Given the description of an element on the screen output the (x, y) to click on. 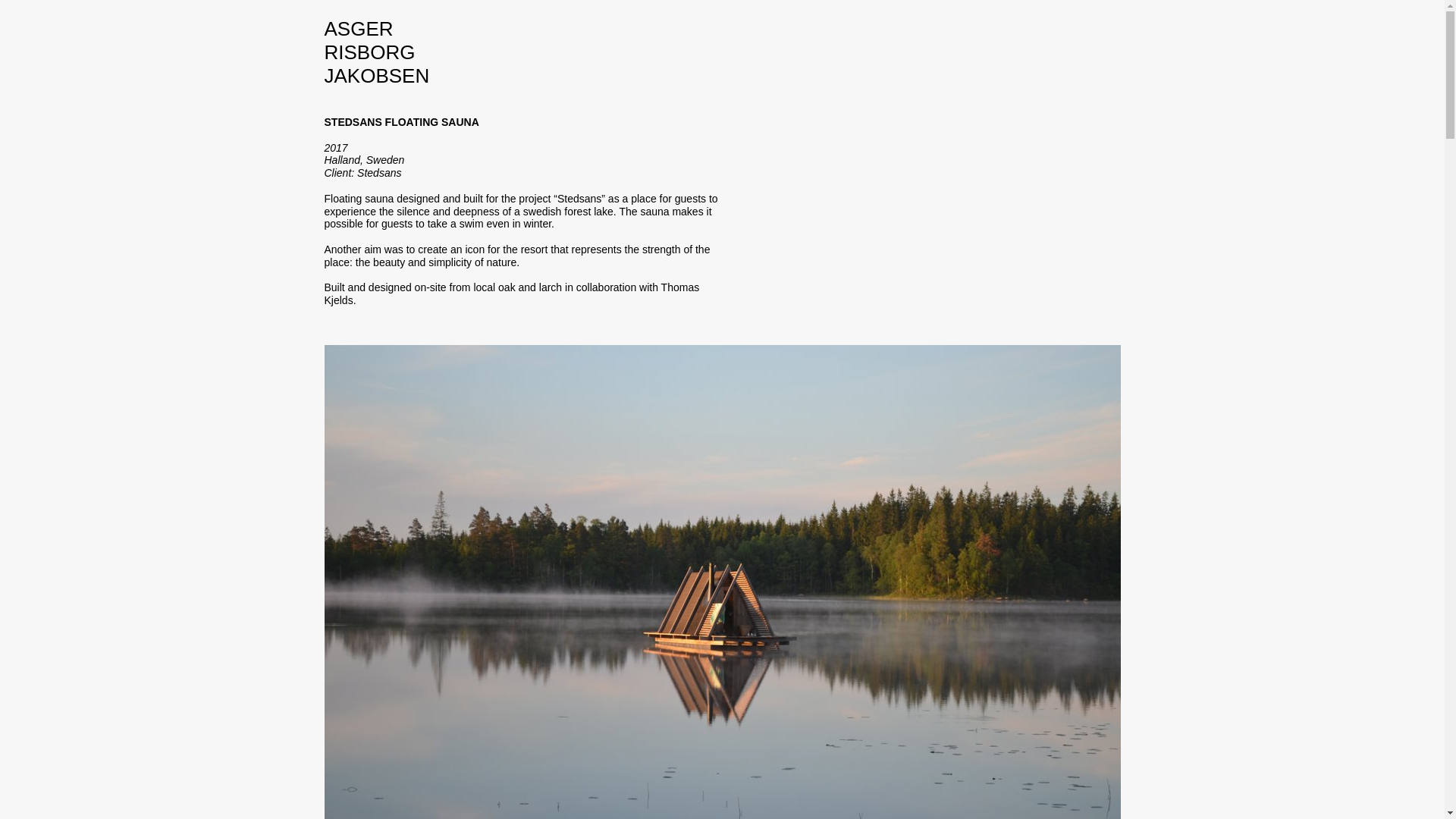
Stedsans (378, 173)
